Given the description of an element on the screen output the (x, y) to click on. 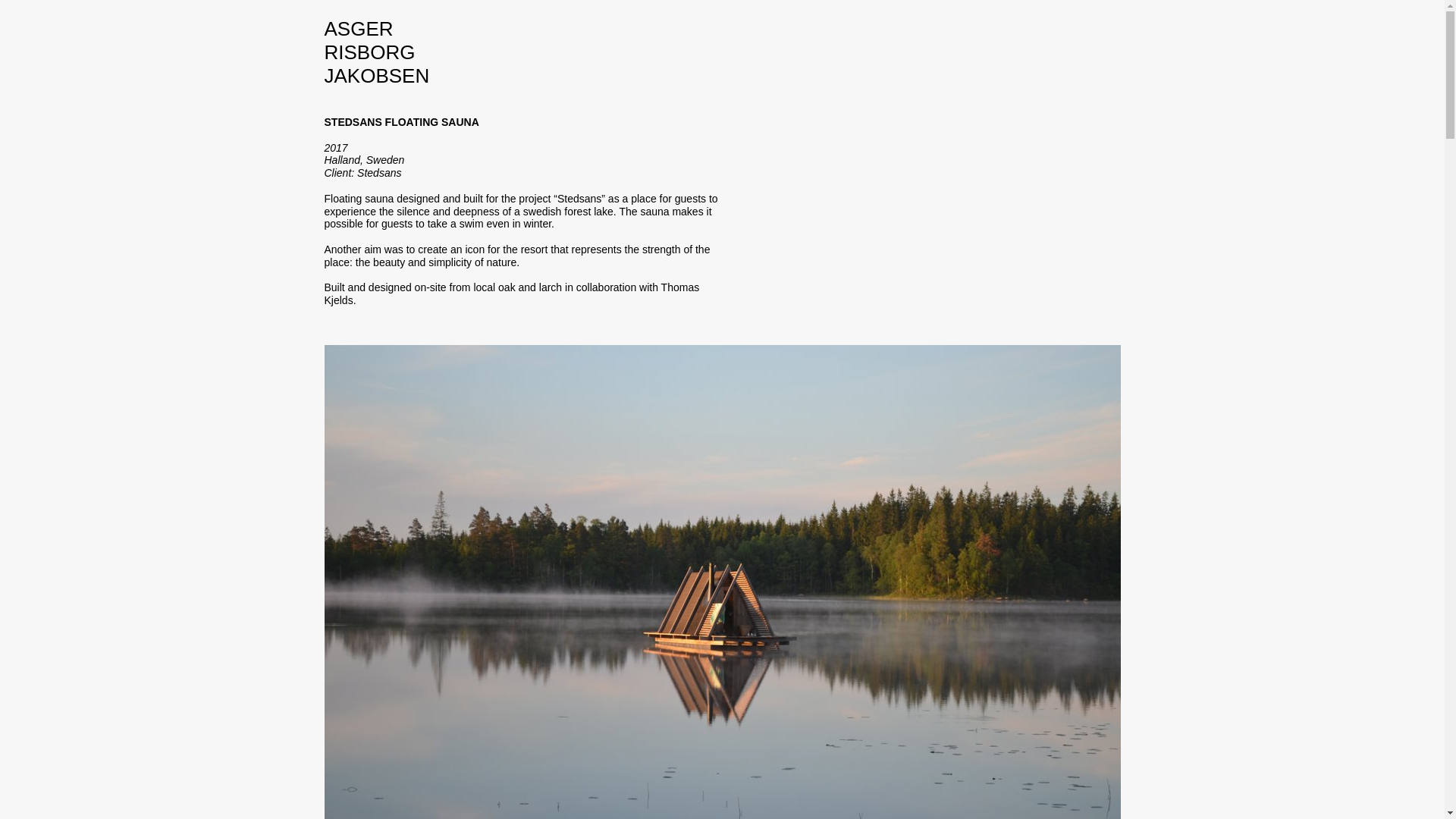
Stedsans (378, 173)
